Given the description of an element on the screen output the (x, y) to click on. 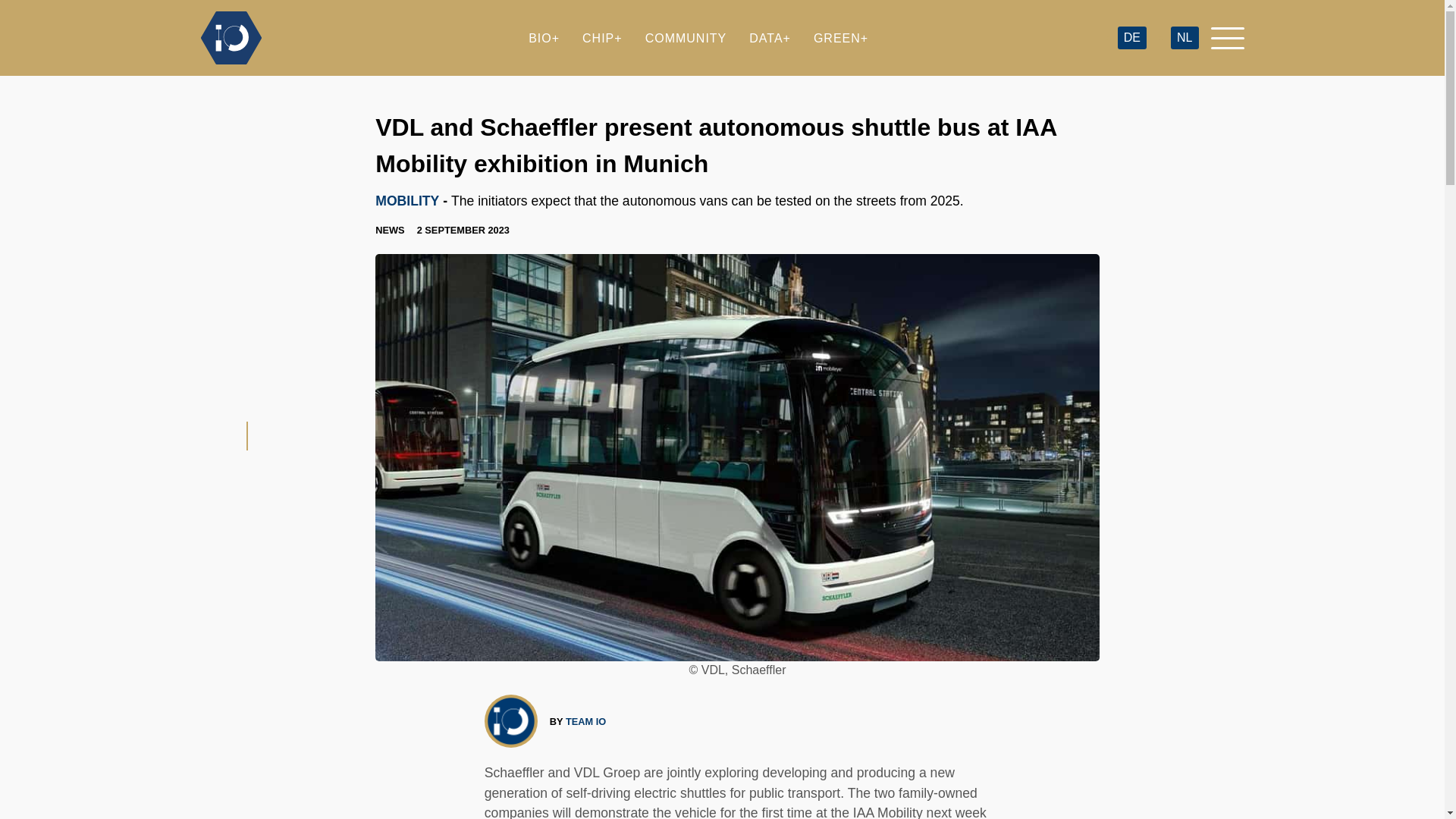
NL (1184, 37)
DE (1132, 37)
TEAM IO (585, 721)
COMMUNITY (685, 38)
MOBILITY (407, 200)
